Given the description of an element on the screen output the (x, y) to click on. 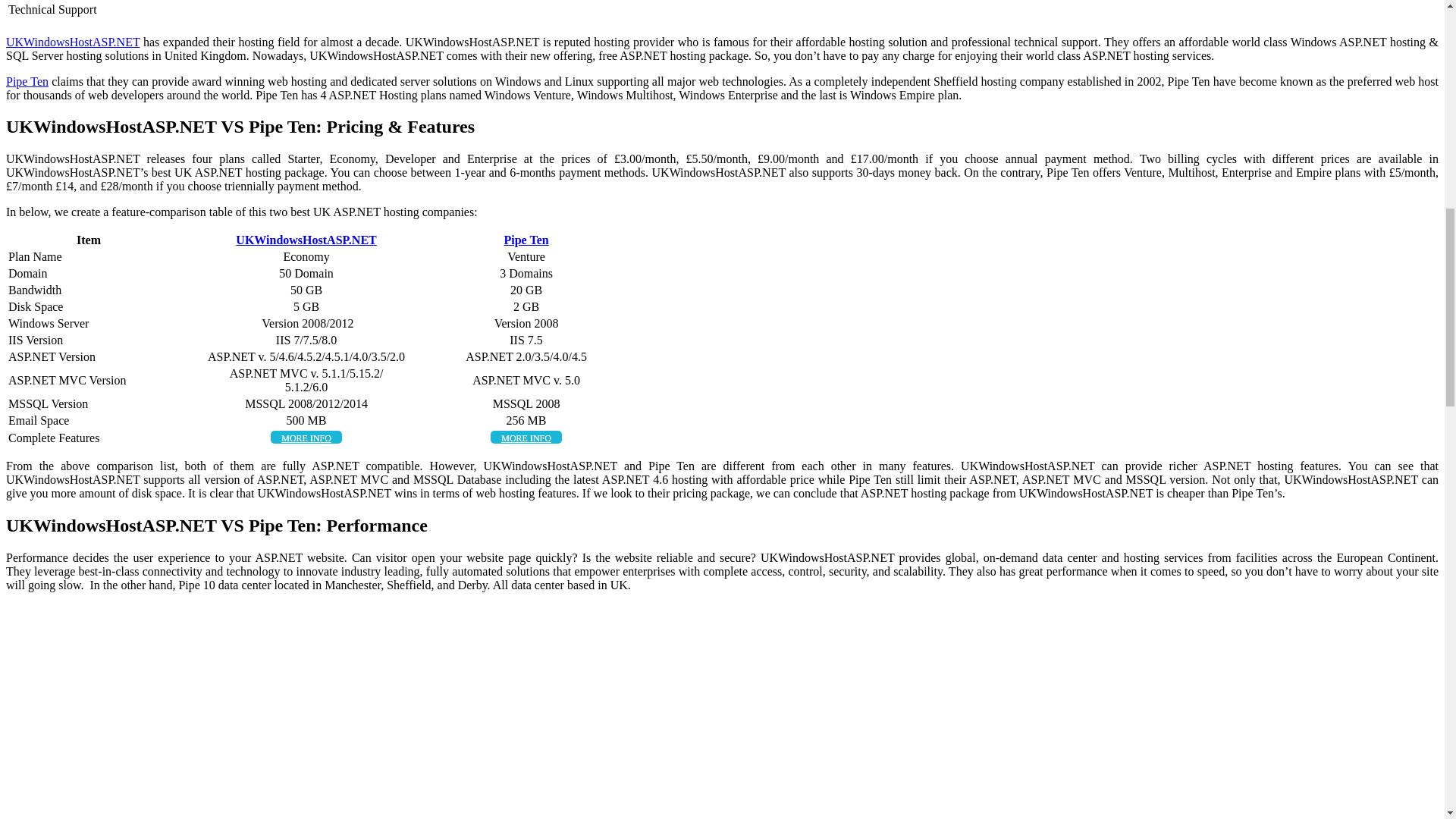
MORE INFO (306, 436)
Pipe Ten (525, 239)
MORE INFO (526, 436)
UKWindowsHostASP.NET (305, 239)
Pipe Ten (26, 80)
UKWindowsHostASP.NET (72, 41)
